Given the description of an element on the screen output the (x, y) to click on. 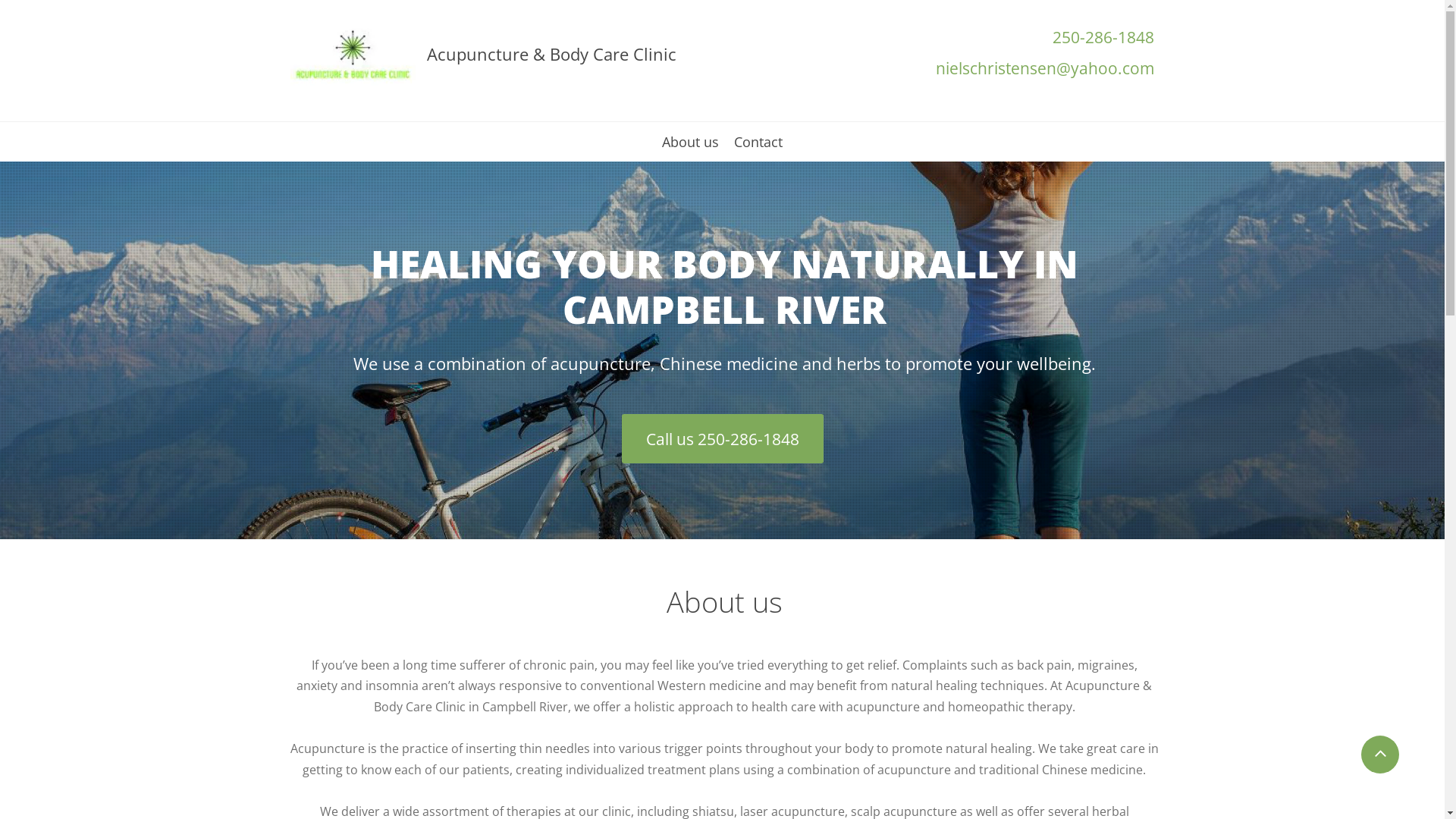
About us Element type: text (690, 147)
Acupuncture & Body Care Clinic Element type: text (550, 53)
Call us 250-286-1848 Element type: text (722, 438)
nielschristensen@yahoo.com Element type: text (1044, 67)
Contact Element type: text (758, 147)
250-286-1848 Element type: text (1103, 36)
